Given the description of an element on the screen output the (x, y) to click on. 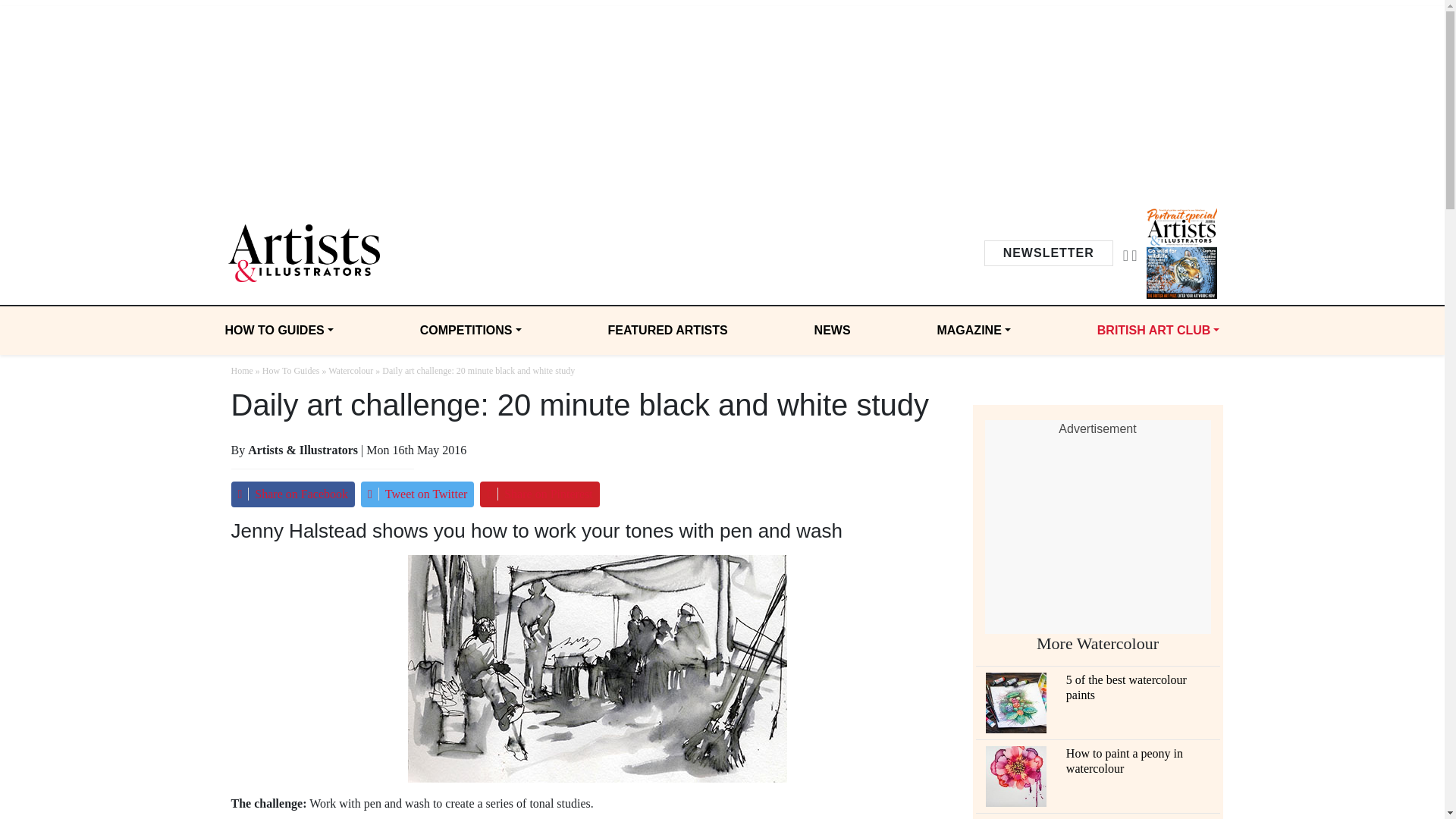
Share on Pinterest (539, 493)
Tweet on twitter (417, 493)
Share on Facebook (291, 493)
